Given the description of an element on the screen output the (x, y) to click on. 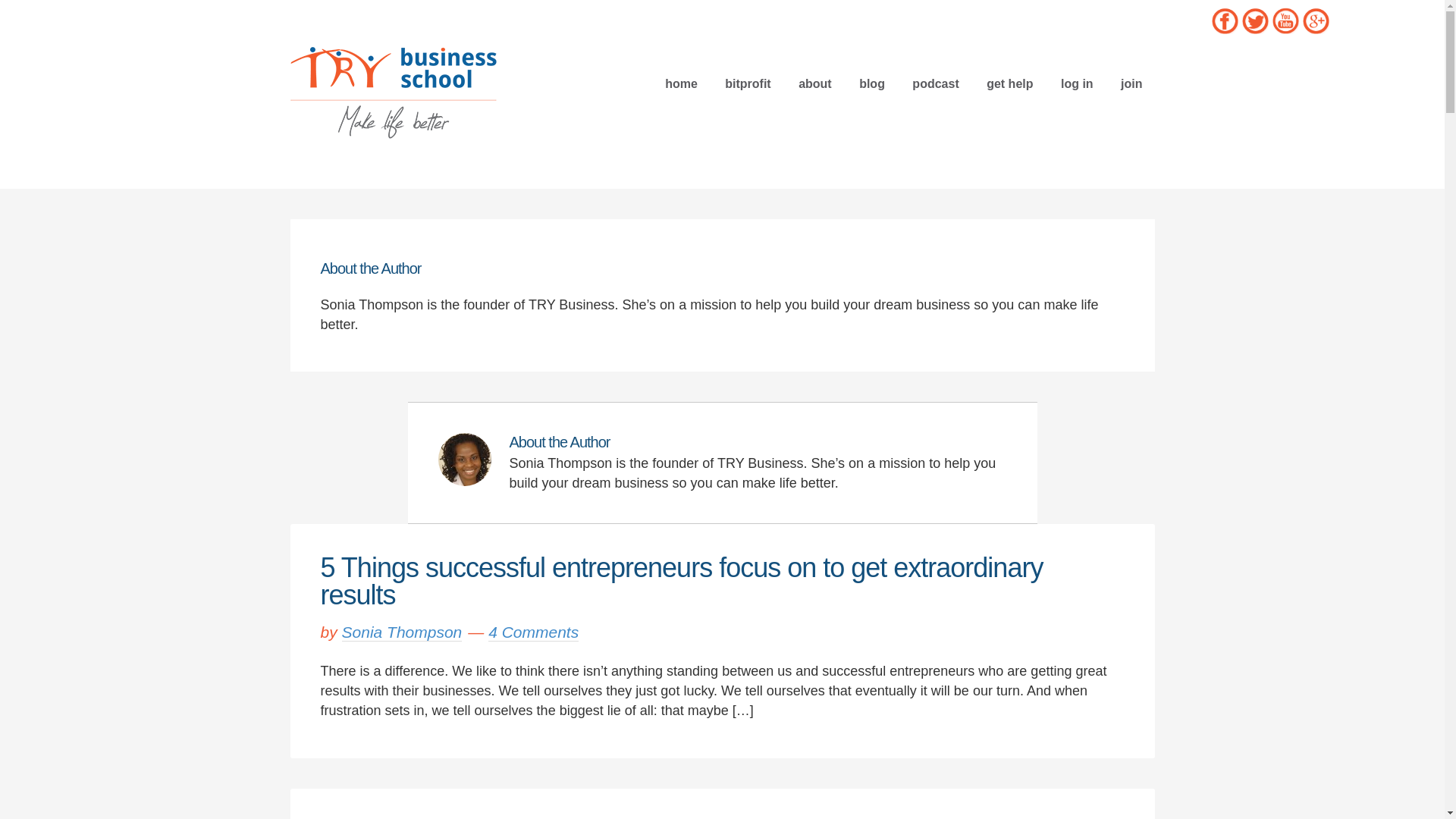
get help (1009, 84)
log in (1076, 84)
Sonia Thompson (402, 632)
about (815, 84)
podcast (935, 84)
4 Comments (532, 632)
blog (871, 84)
TRY BUSINESS (392, 91)
join (1131, 84)
home (681, 84)
bitprofit (748, 84)
